Given the description of an element on the screen output the (x, y) to click on. 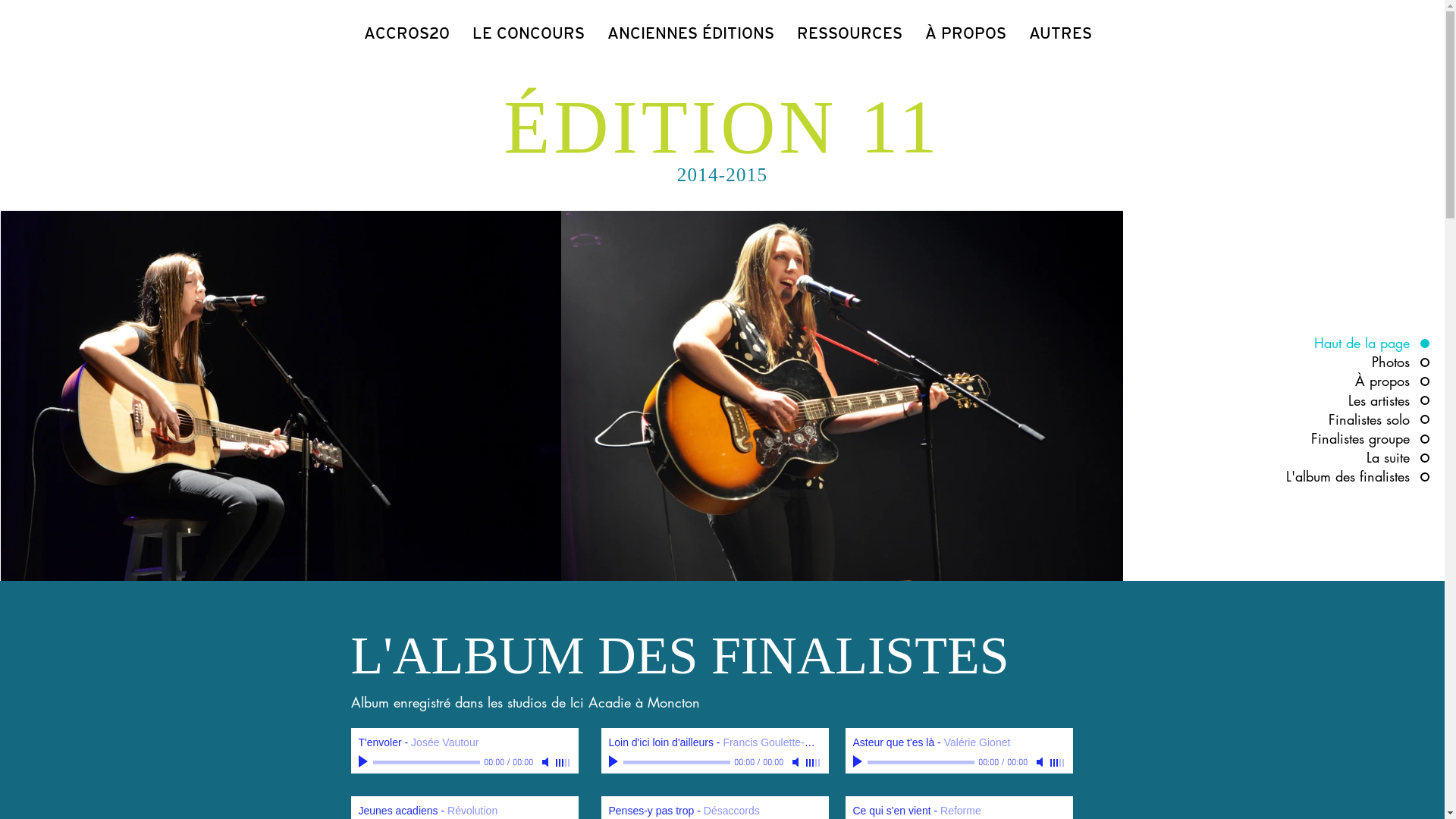
La suite Element type: text (1353, 457)
Photos Element type: text (1353, 361)
Les artistes Element type: text (1353, 400)
Finalistes solo Element type: text (1353, 419)
Haut de la page Element type: text (1353, 342)
ACCROS20 Element type: text (405, 32)
LE CONCOURS Element type: text (528, 32)
RESSOURCES Element type: text (849, 32)
Finalistes groupe Element type: text (1353, 438)
L'album des finalistes Element type: text (1353, 476)
